Given the description of an element on the screen output the (x, y) to click on. 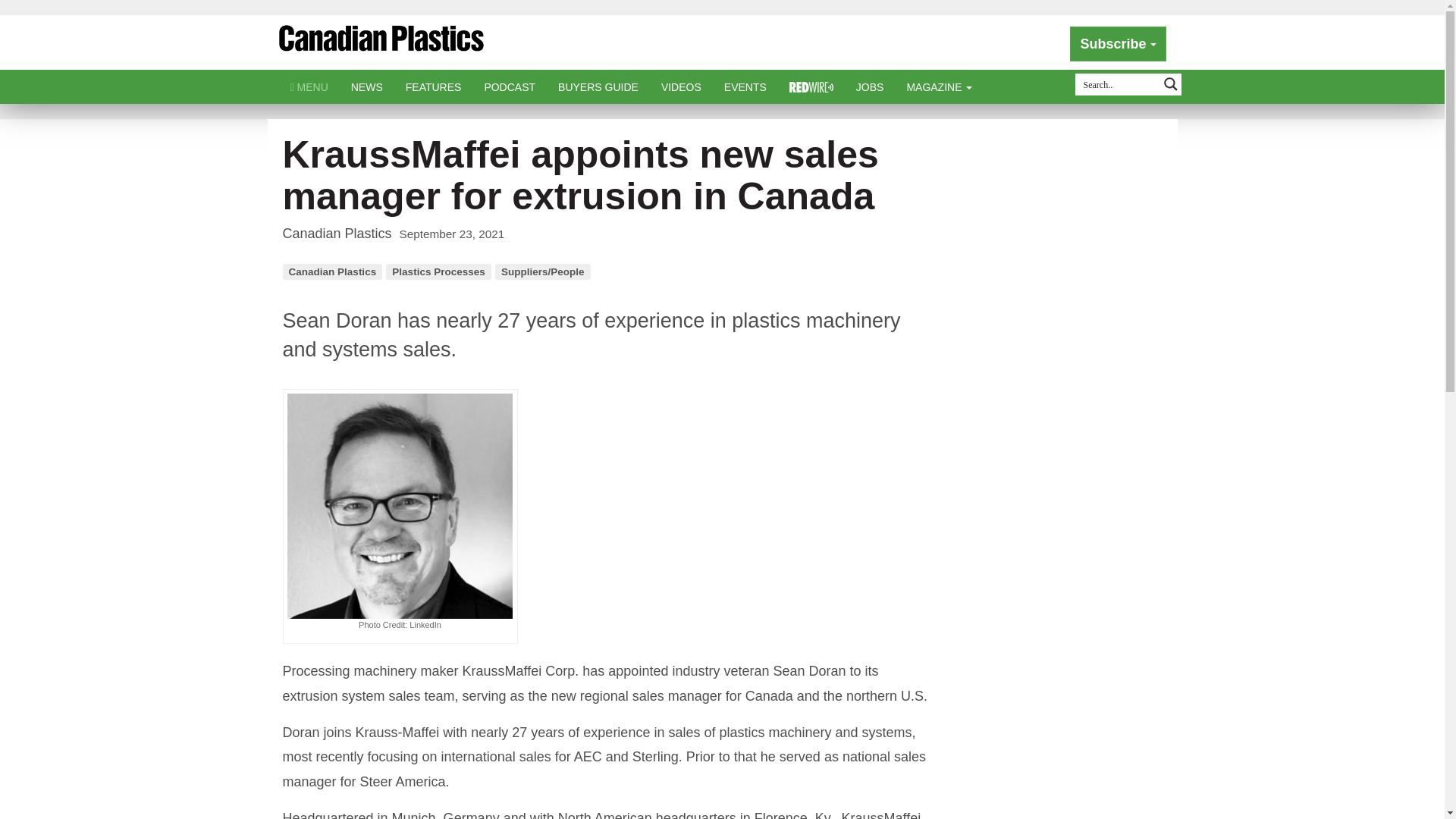
Click to show site navigation (309, 86)
FEATURES (433, 86)
BUYERS GUIDE (598, 86)
MAGAZINE (939, 86)
MENU (309, 86)
NEWS (366, 86)
Canadian Plastics (381, 44)
VIDEOS (681, 86)
JOBS (869, 86)
Subscribe (1118, 43)
PODCAST (509, 86)
EVENTS (745, 86)
